Given the description of an element on the screen output the (x, y) to click on. 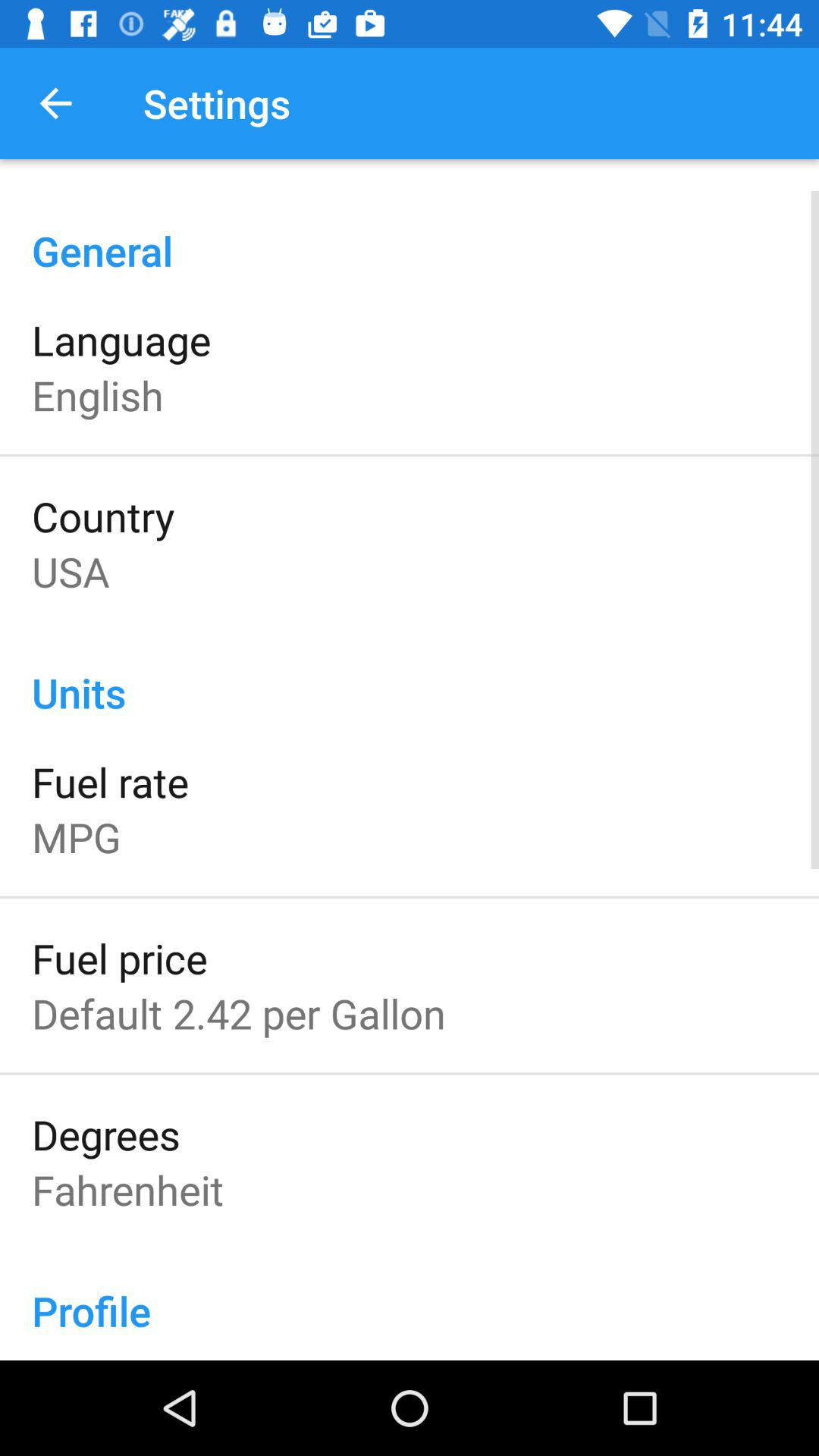
open item above the fuel price icon (76, 836)
